Given the description of an element on the screen output the (x, y) to click on. 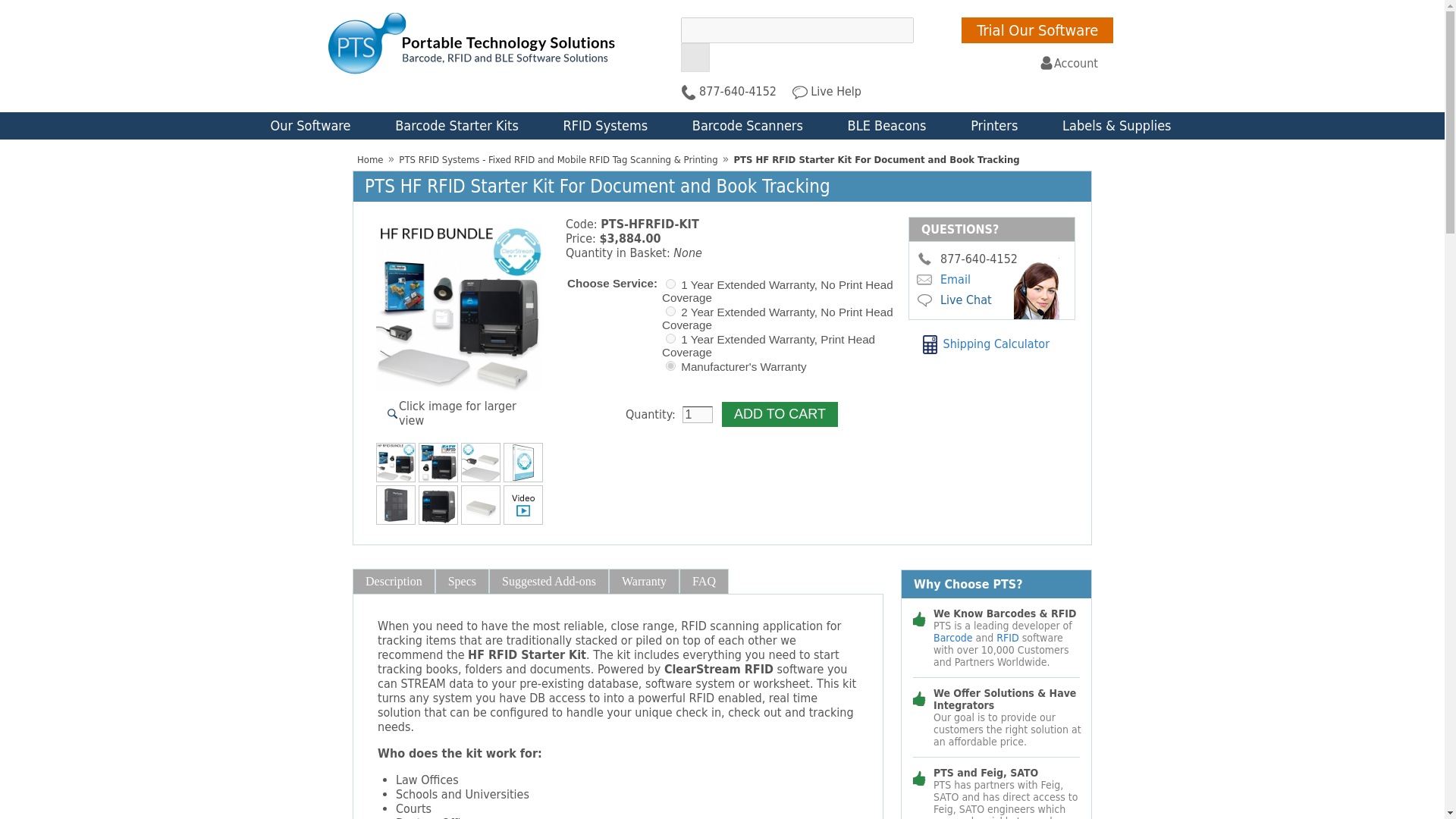
EWS2CL408NX (670, 311)
Account (1068, 63)
EWSPCL408NX (670, 338)
Call us at 1-877-640-4152 (924, 258)
Our Software (309, 126)
1 (697, 414)
Barcode Starter Kits (456, 126)
RFID Systems (604, 126)
Chat with a member of our team (924, 300)
